Given the description of an element on the screen output the (x, y) to click on. 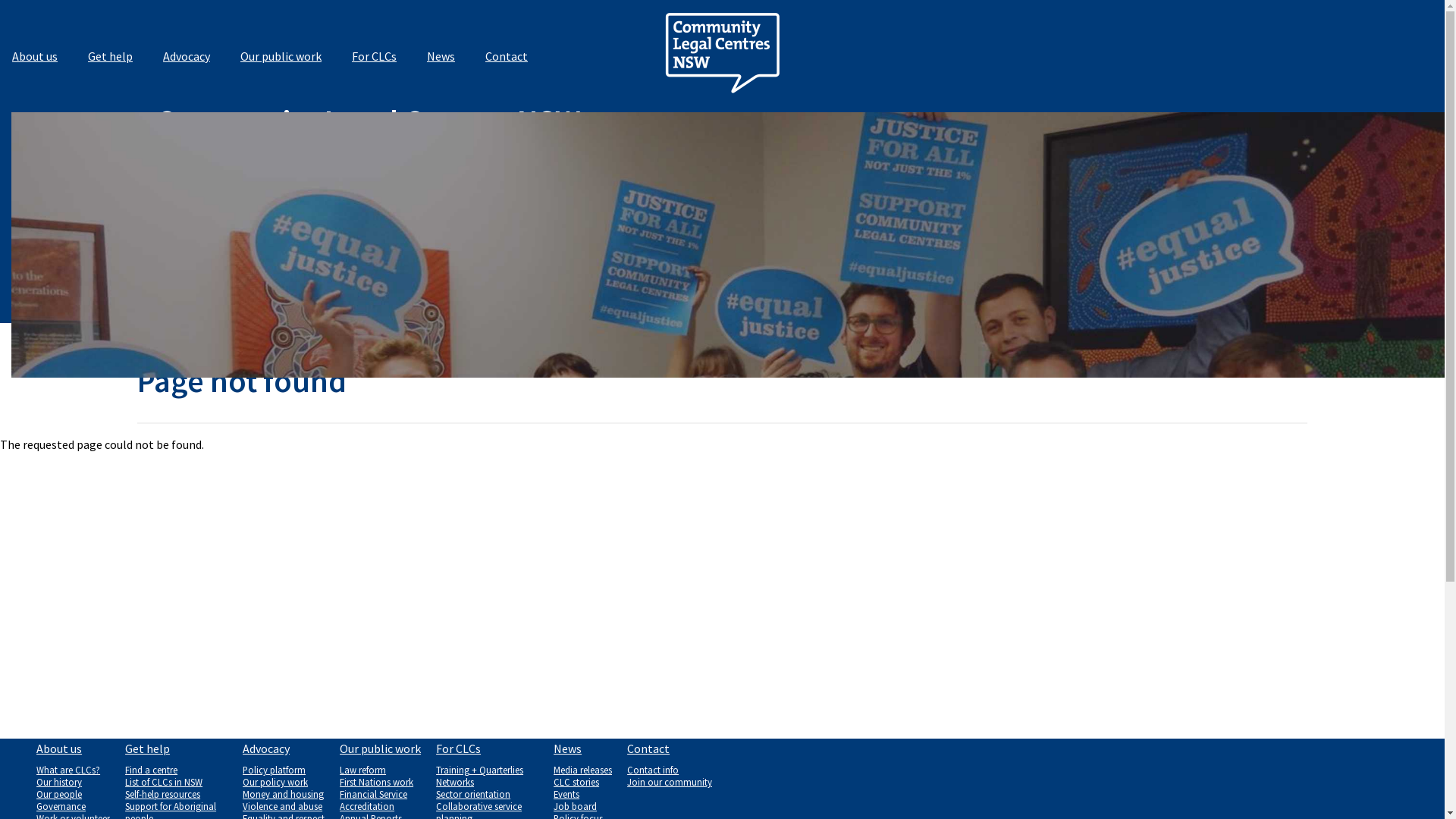
Violence and abuse Element type: text (283, 806)
Governance Element type: text (72, 806)
For CLCs Element type: text (487, 751)
Financial Service Element type: text (379, 793)
Our public work Element type: text (283, 55)
Get help Element type: text (176, 751)
Training + Quarterlies Element type: text (487, 769)
CLC stories Element type: text (582, 781)
Our policy work Element type: text (283, 781)
News Element type: text (582, 751)
Skip to main content Element type: text (0, 0)
About us Element type: text (37, 55)
Law reform Element type: text (379, 769)
What are CLCs? Element type: text (72, 769)
List of CLCs in NSW Element type: text (176, 781)
Find a centre Element type: text (176, 769)
First Nations work Element type: text (379, 781)
Networks Element type: text (487, 781)
Join our community Element type: text (669, 781)
Home Element type: hover (721, 103)
Advocacy Element type: text (189, 55)
Contact Element type: text (669, 751)
Media releases Element type: text (582, 769)
Contact Element type: text (509, 55)
Sector orientation Element type: text (487, 793)
For CLCs Element type: text (376, 55)
Policy platform Element type: text (283, 769)
Our people Element type: text (72, 793)
Self-help resources Element type: text (176, 793)
Accreditation Element type: text (379, 806)
Advocacy Element type: text (283, 751)
About us Element type: text (72, 751)
Our public work Element type: text (379, 751)
Our history Element type: text (72, 781)
Money and housing Element type: text (283, 793)
Contact info Element type: text (669, 769)
Events Element type: text (582, 793)
Job board Element type: text (582, 806)
Get help Element type: text (112, 55)
News Element type: text (443, 55)
